Given the description of an element on the screen output the (x, y) to click on. 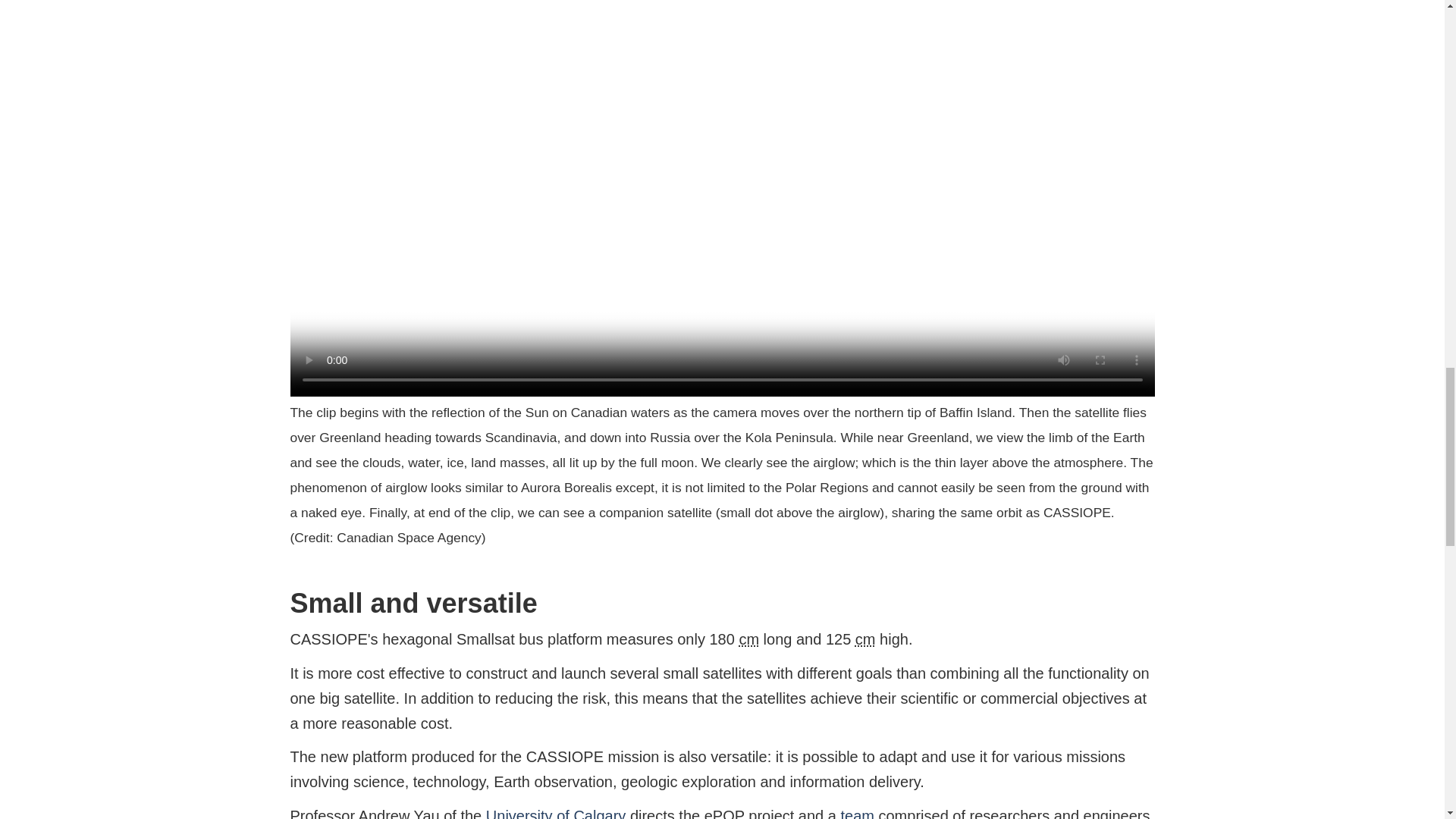
enhanced Polar Outflow Probe (724, 813)
University of Calgary (556, 813)
team (856, 813)
Centimetres (748, 638)
Centimetres (866, 638)
